Given the description of an element on the screen output the (x, y) to click on. 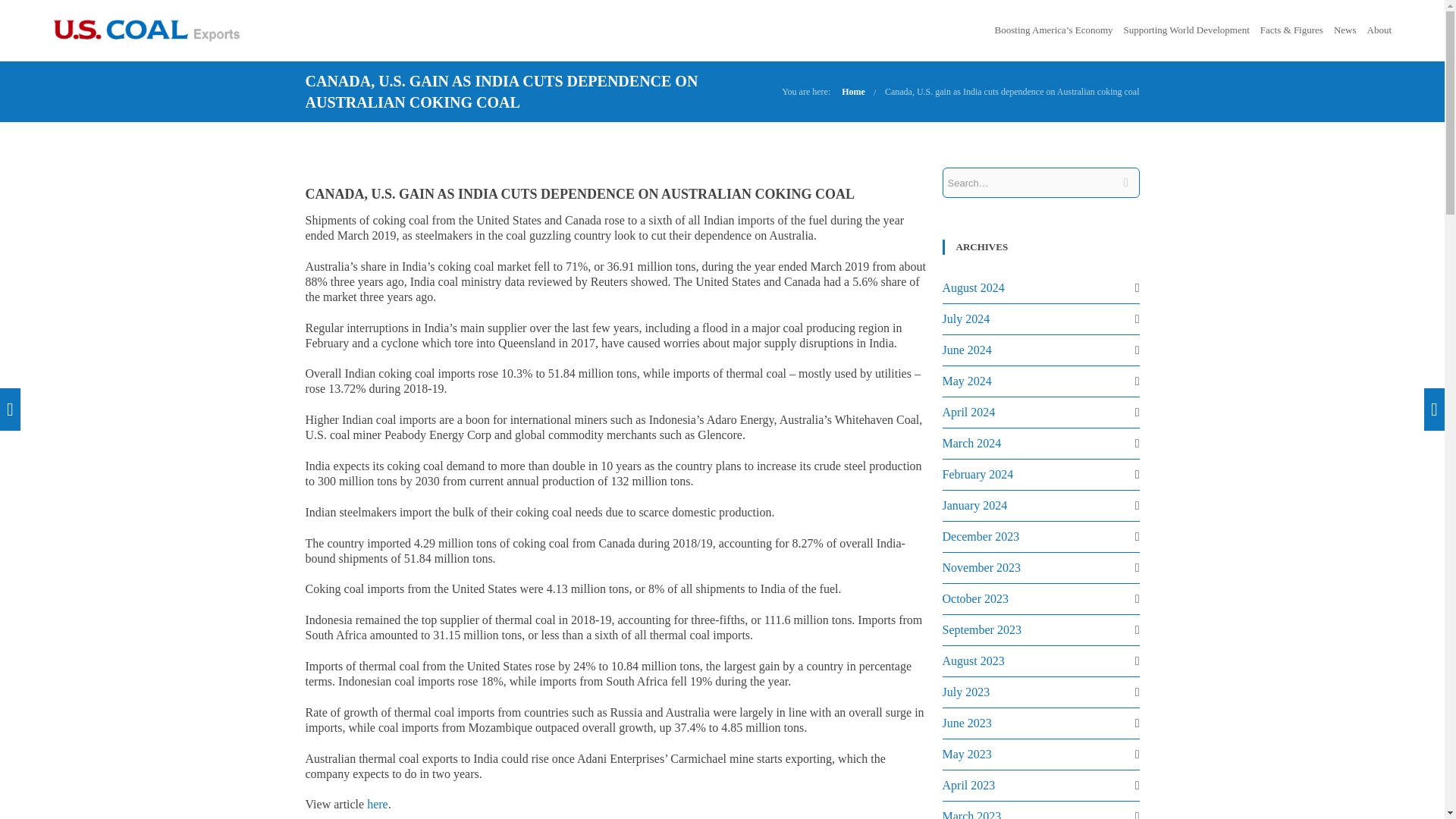
January 2024 (974, 504)
July 2024 (966, 318)
February 2024 (977, 473)
Supporting World Development (1186, 29)
November 2023 (981, 567)
December 2023 (980, 535)
here (377, 803)
June 2024 (966, 349)
